Given the description of an element on the screen output the (x, y) to click on. 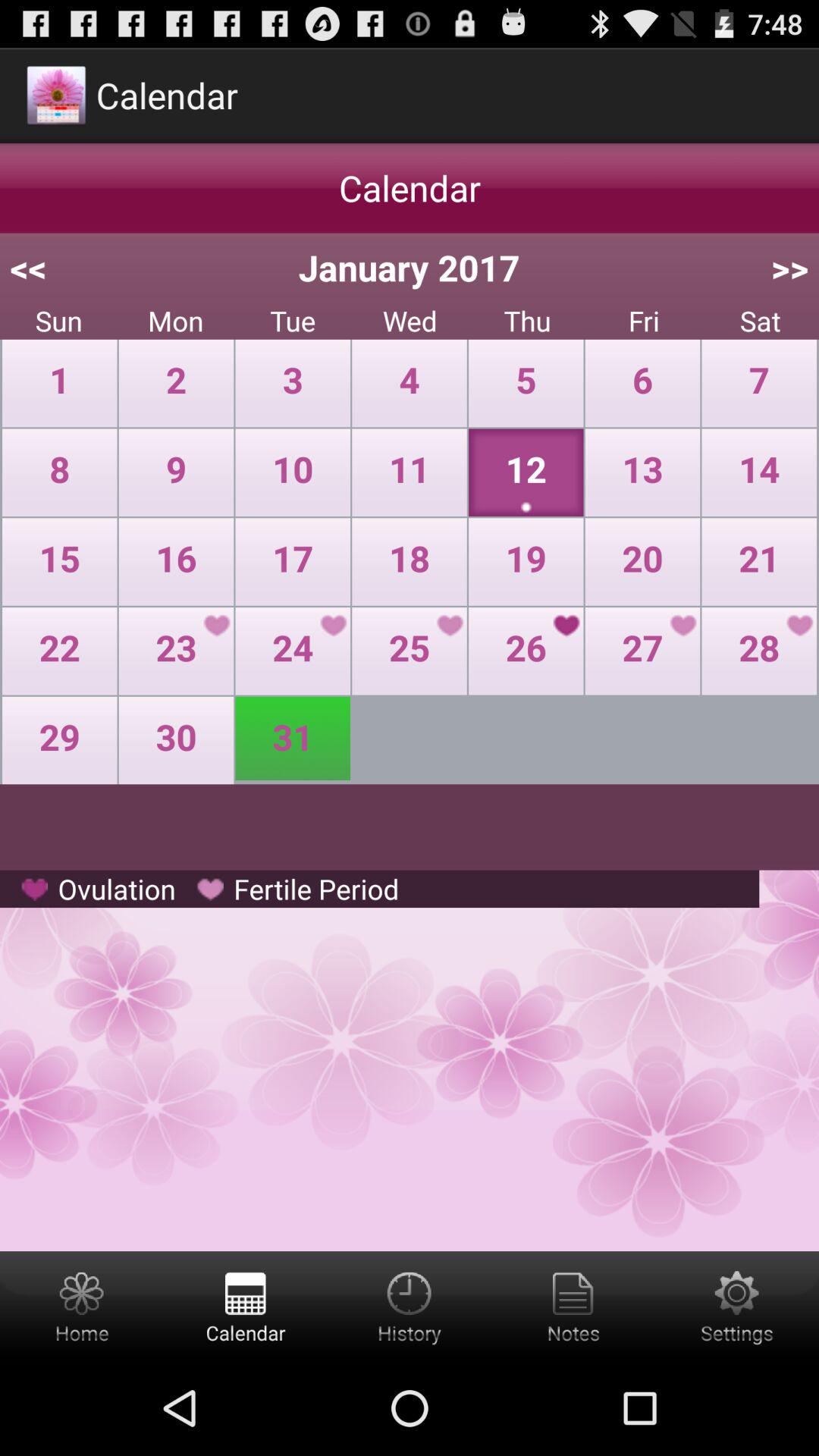
calender button (245, 1305)
